Given the description of an element on the screen output the (x, y) to click on. 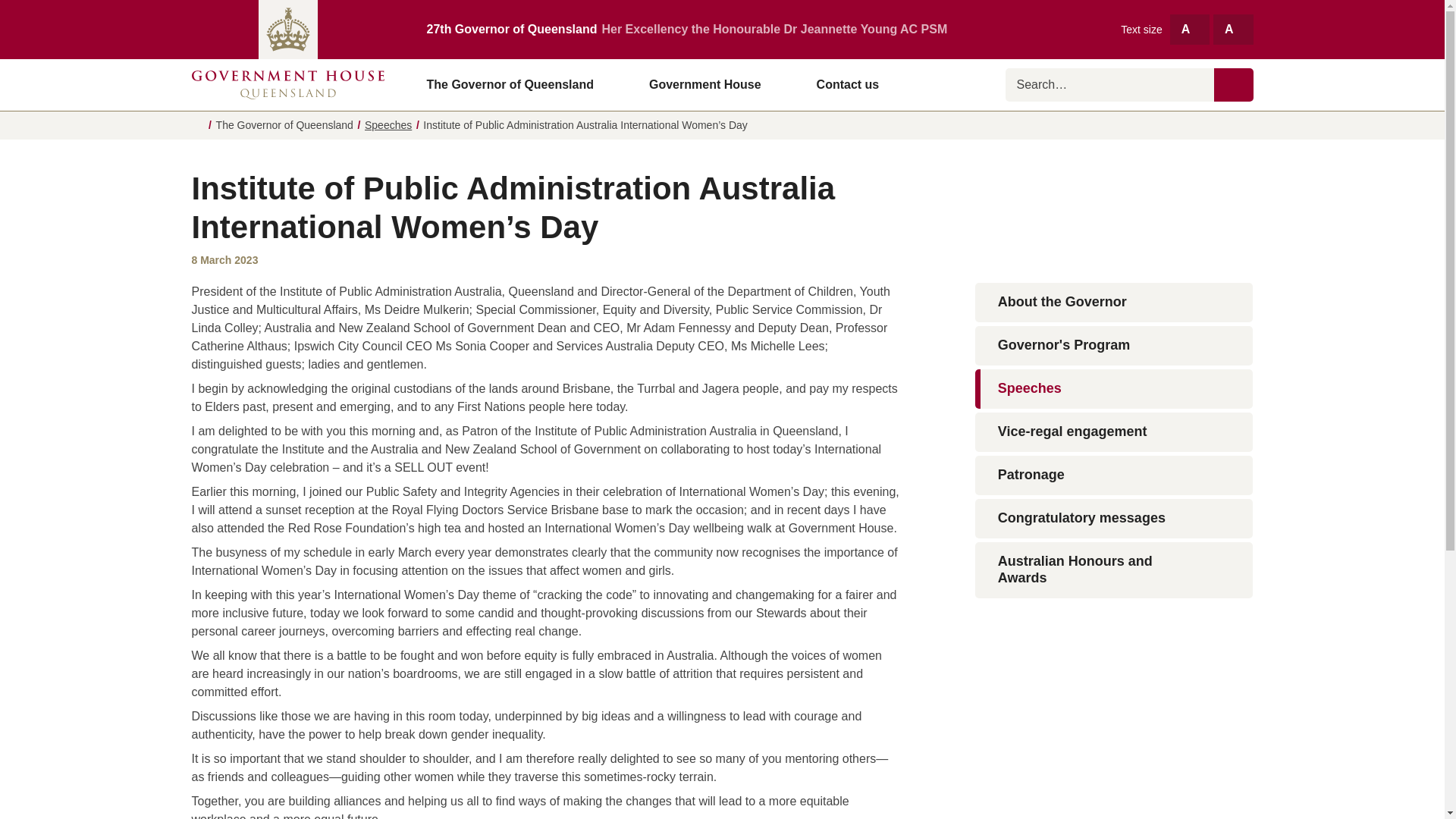
Government House (711, 84)
A (1232, 29)
The Governor of Queensland (515, 84)
A (1189, 29)
Vice-regal engagement (1114, 432)
Speeches (388, 125)
About the Governor (1114, 302)
Patronage (1114, 475)
Congratulatory messages (1114, 518)
Contact us (848, 84)
